Given the description of an element on the screen output the (x, y) to click on. 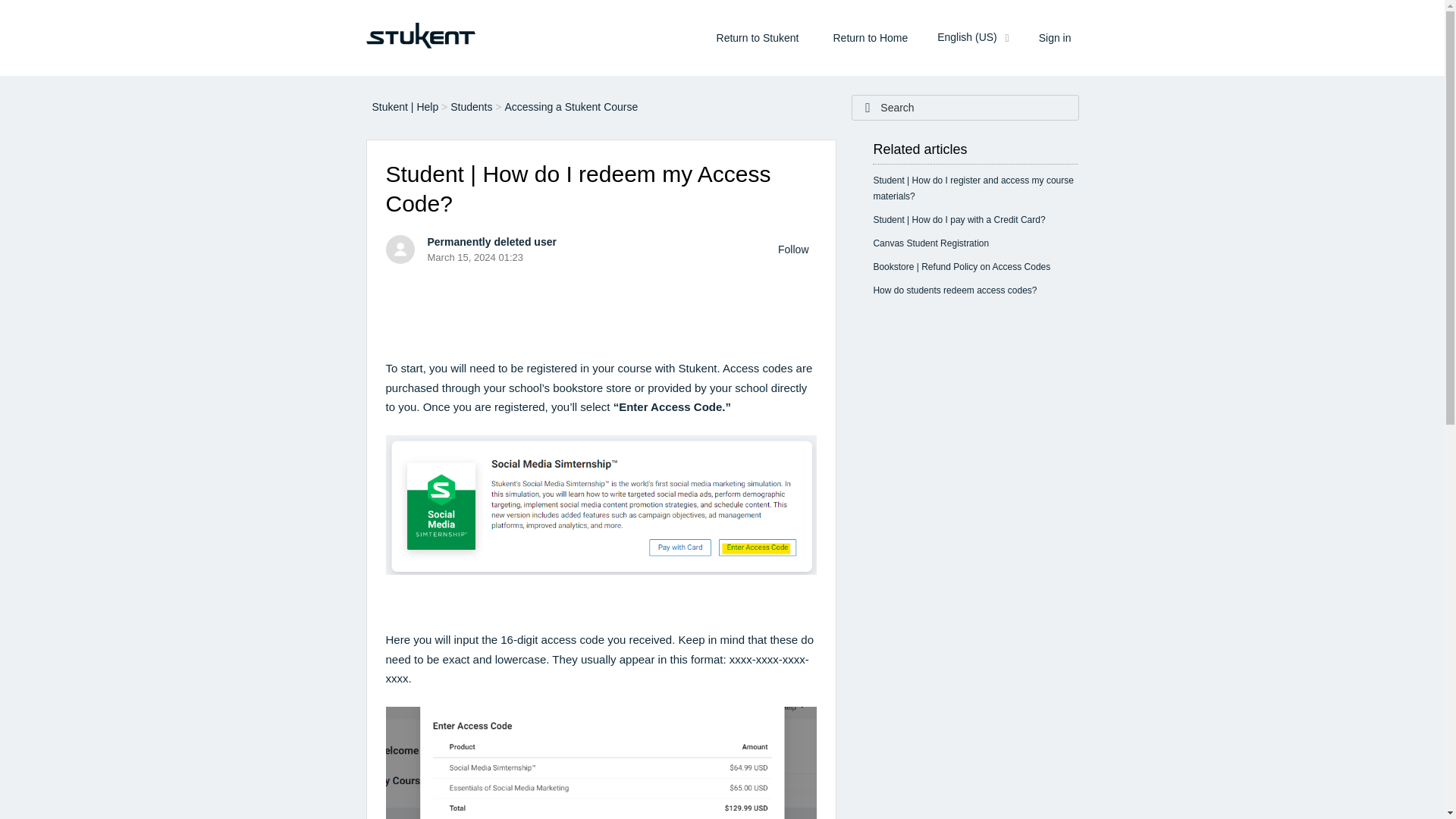
Sign in (1054, 37)
Home (419, 37)
Return to Home (870, 37)
Search (113, 12)
Return to Stukent (757, 37)
Accessing a Stukent Course (566, 107)
Canvas Student Registration (930, 243)
Opens a sign-in dialog (792, 249)
How do students redeem access codes? (954, 290)
Opens a dialog (1054, 37)
